Given the description of an element on the screen output the (x, y) to click on. 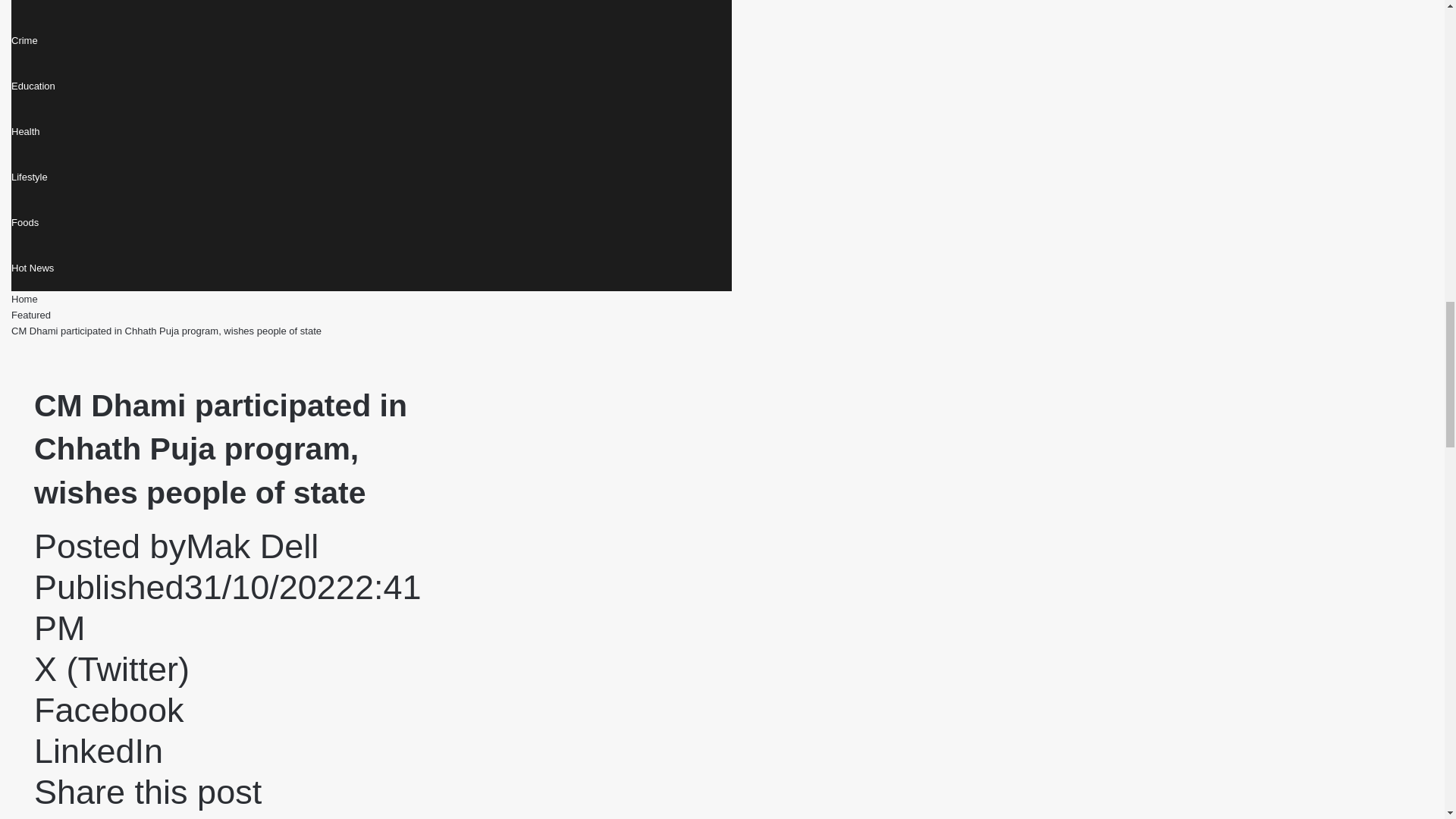
Share on facebook (108, 710)
Share on LinkedIn (98, 751)
